Given the description of an element on the screen output the (x, y) to click on. 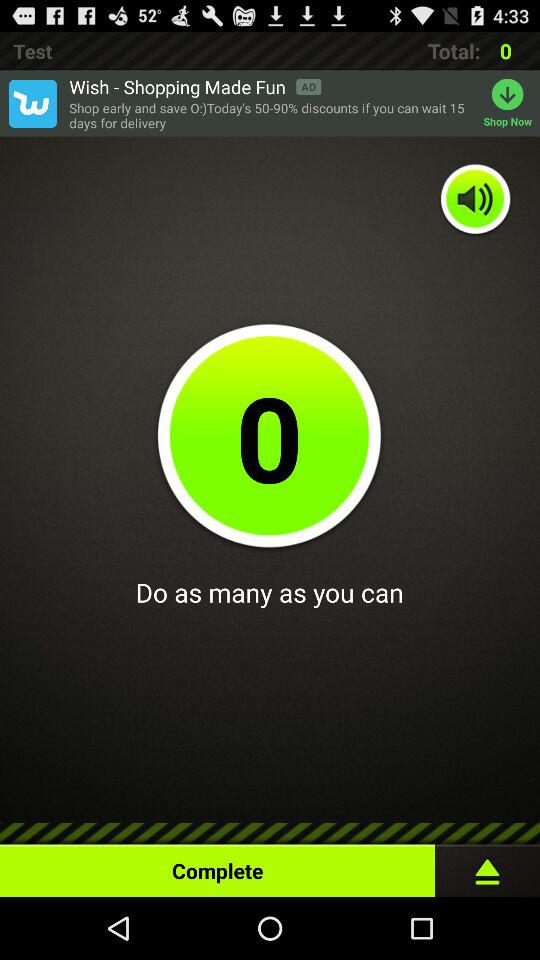
press app to the left of wish shopping made item (32, 103)
